Given the description of an element on the screen output the (x, y) to click on. 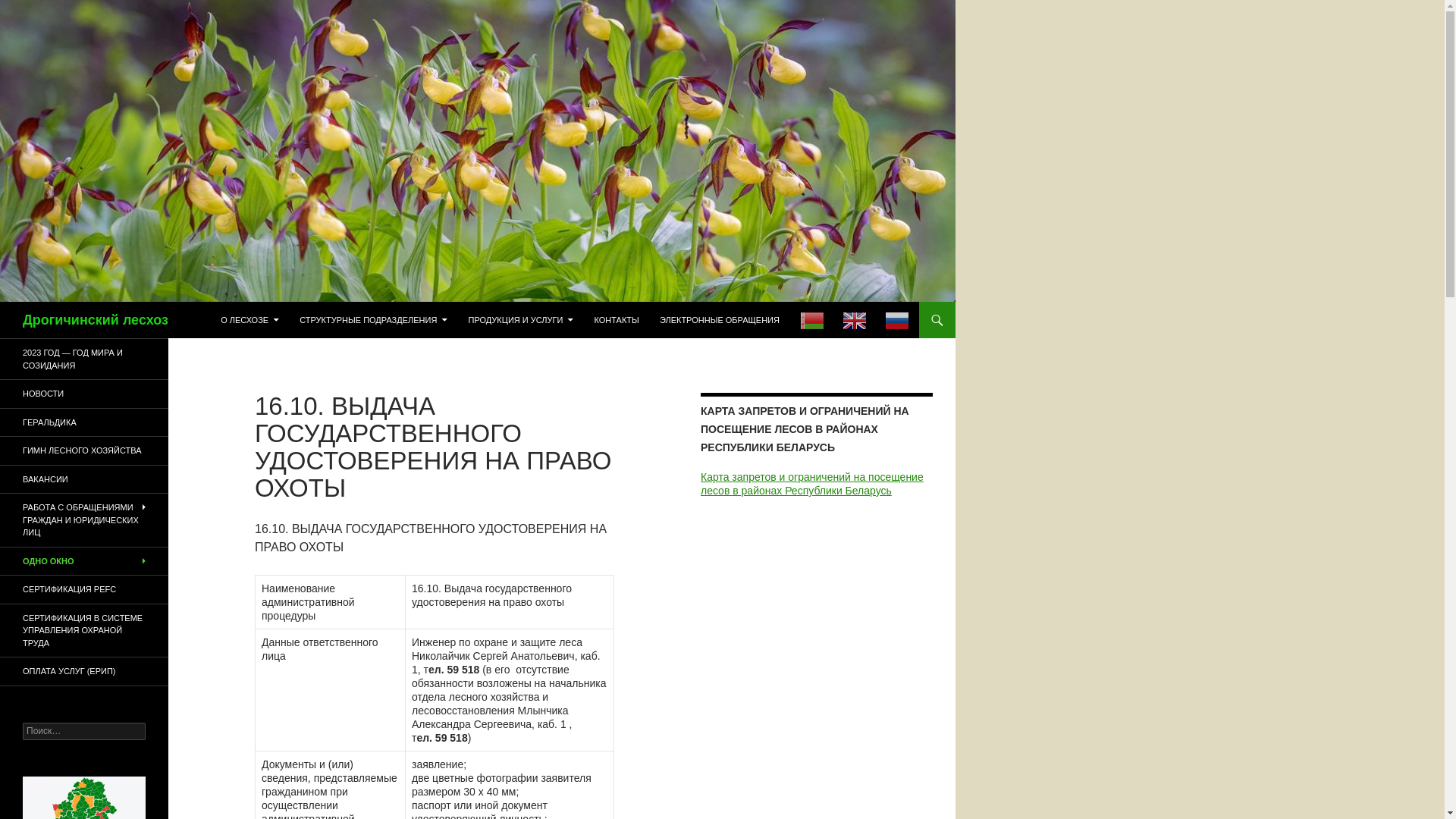
English Element type: hover (854, 319)
Russian Element type: hover (896, 319)
Belarusian Element type: hover (811, 319)
